Given the description of an element on the screen output the (x, y) to click on. 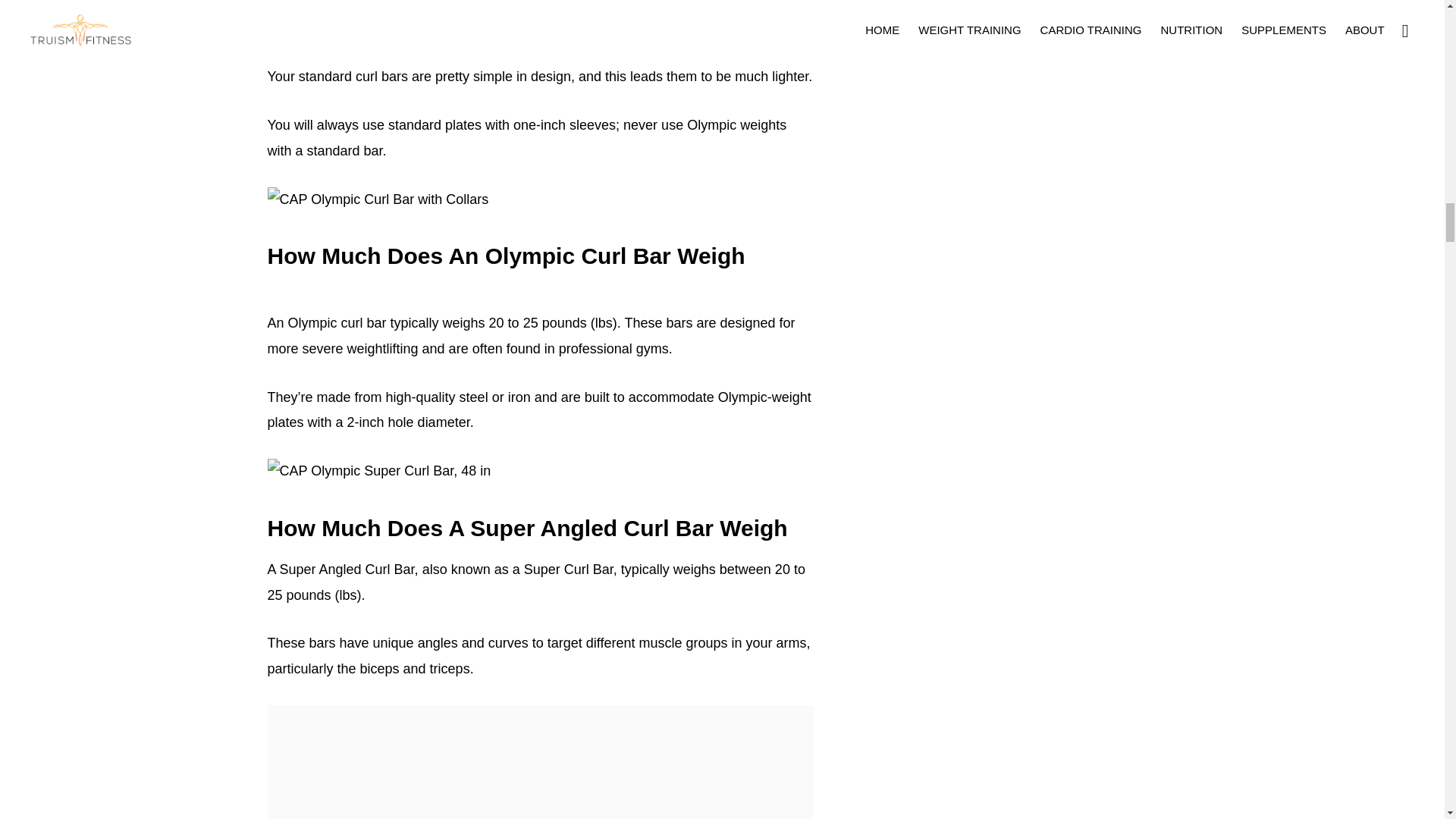
curl bars (422, 5)
CAP Olympic Super Curl Bar, 48 in (378, 471)
CAP Olympic Curl Bar with Collars (376, 199)
